Given the description of an element on the screen output the (x, y) to click on. 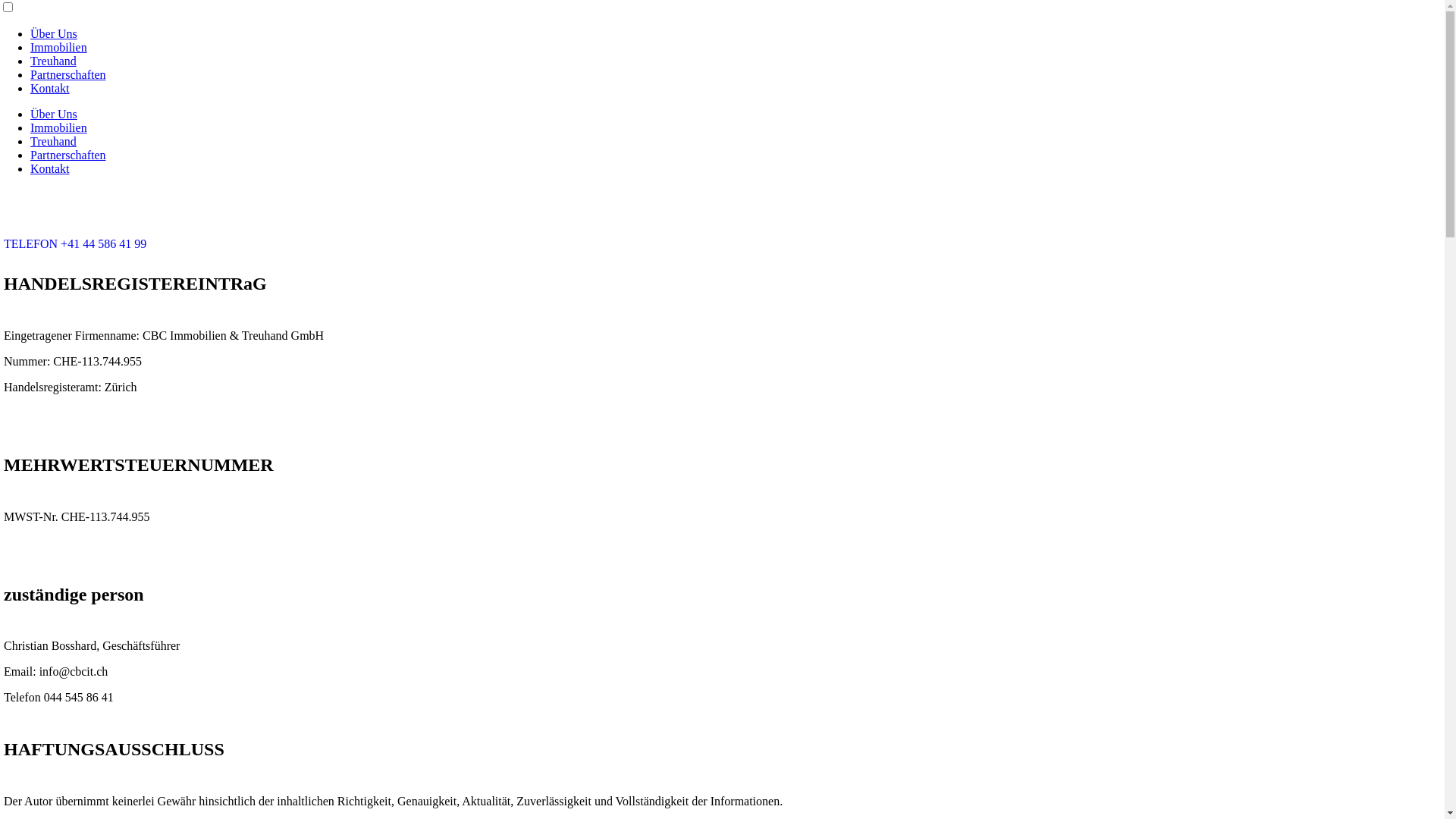
Kontakt Element type: text (49, 87)
Kontakt Element type: text (49, 168)
TELEFON +41 44 586 41 99 Element type: text (74, 243)
Partnerschaften Element type: text (68, 154)
Immobilien Element type: text (58, 46)
Treuhand Element type: text (53, 60)
Treuhand Element type: text (53, 140)
Partnerschaften Element type: text (68, 74)
Immobilien Element type: text (58, 127)
